Given the description of an element on the screen output the (x, y) to click on. 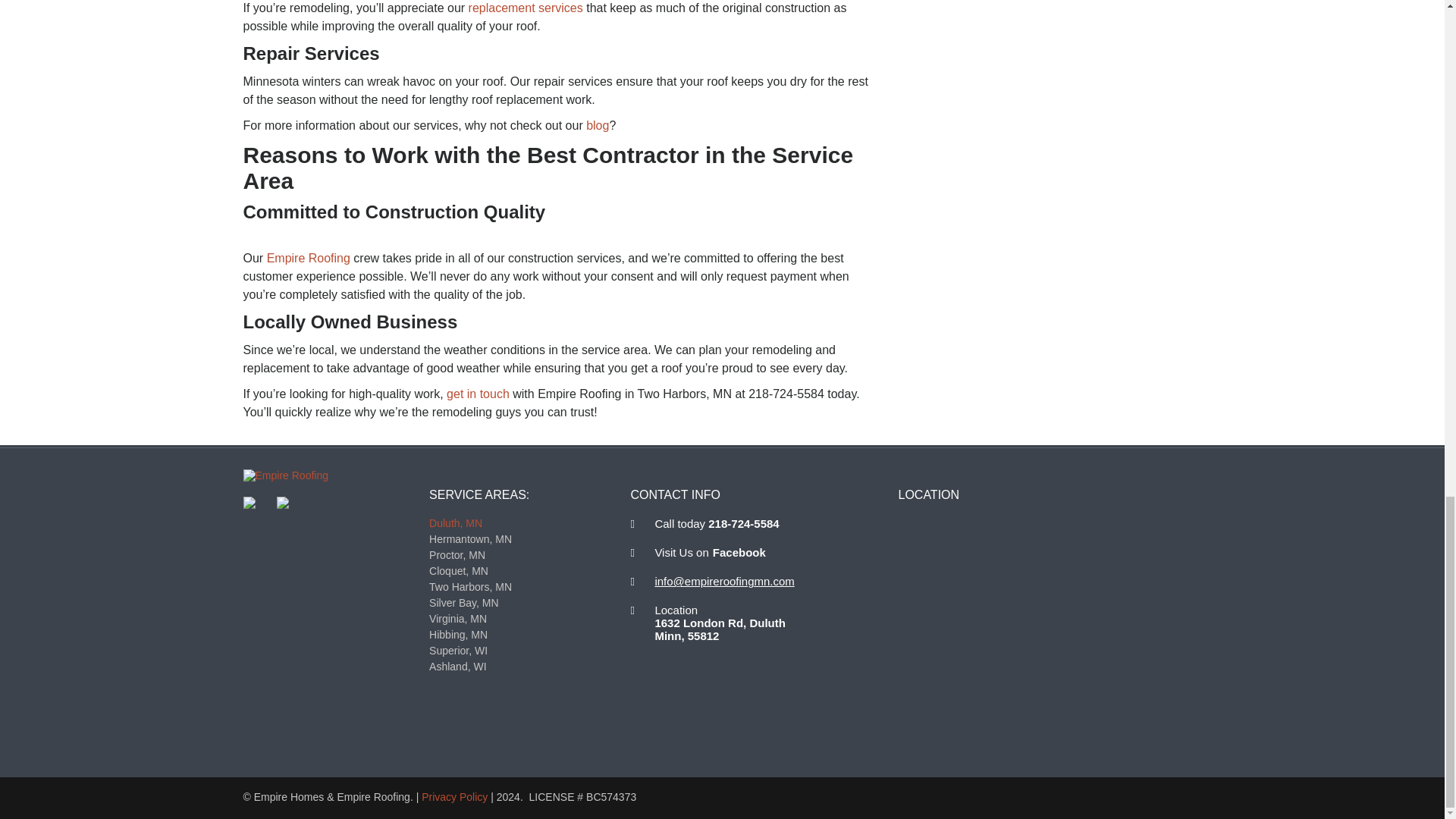
Empire Roofing (286, 475)
